Given the description of an element on the screen output the (x, y) to click on. 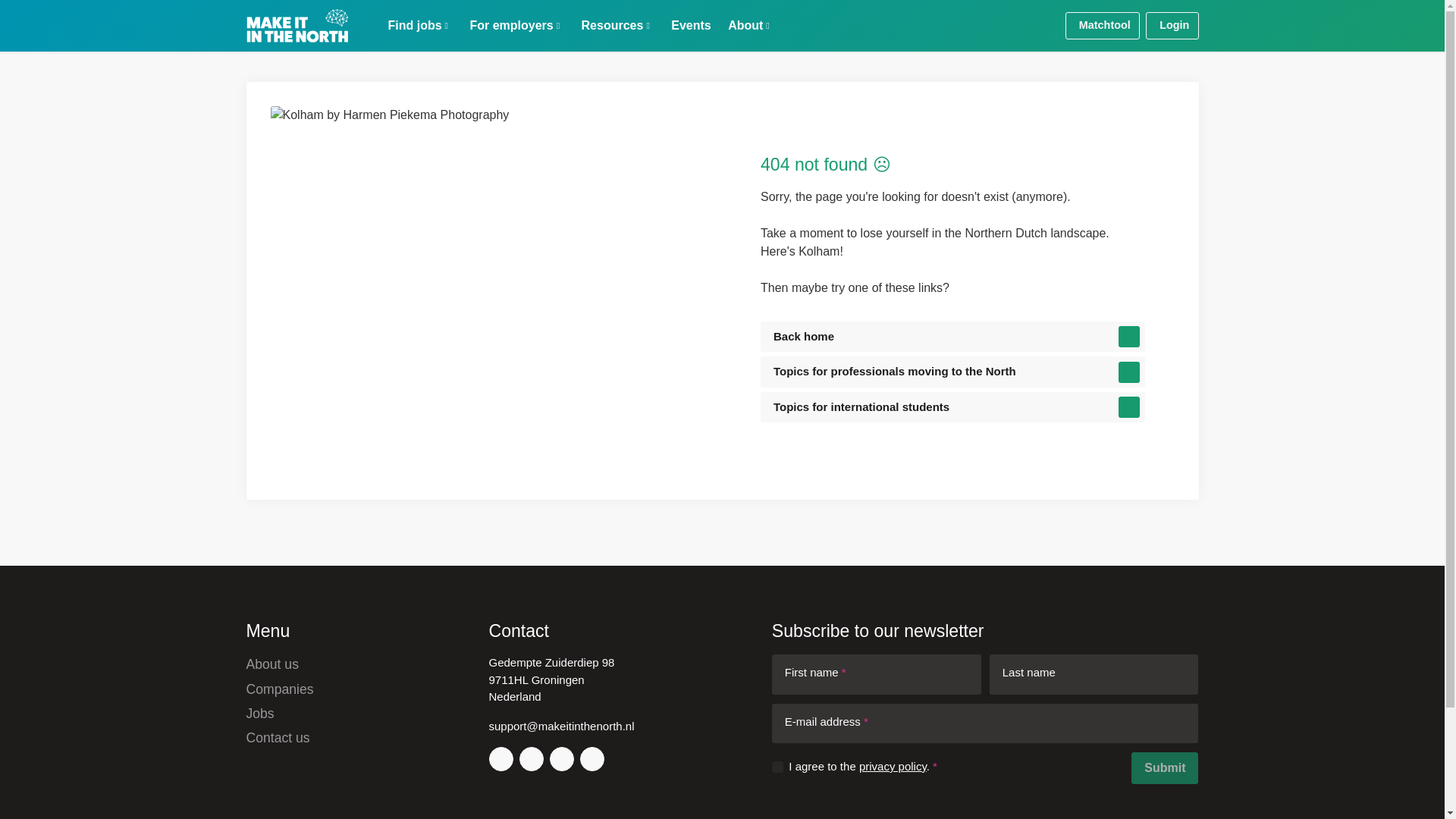
1 (777, 767)
About (748, 25)
Login (1171, 25)
Find jobs (418, 25)
Login (1171, 25)
Make it in the North -  (296, 26)
Topics for international students (952, 407)
linkedin (531, 758)
facebook (591, 758)
Back home (952, 336)
Matchtool (1102, 25)
Submit (1164, 767)
Resources (614, 25)
Topics for professionals moving to the North (952, 371)
instagram (499, 758)
